Given the description of an element on the screen output the (x, y) to click on. 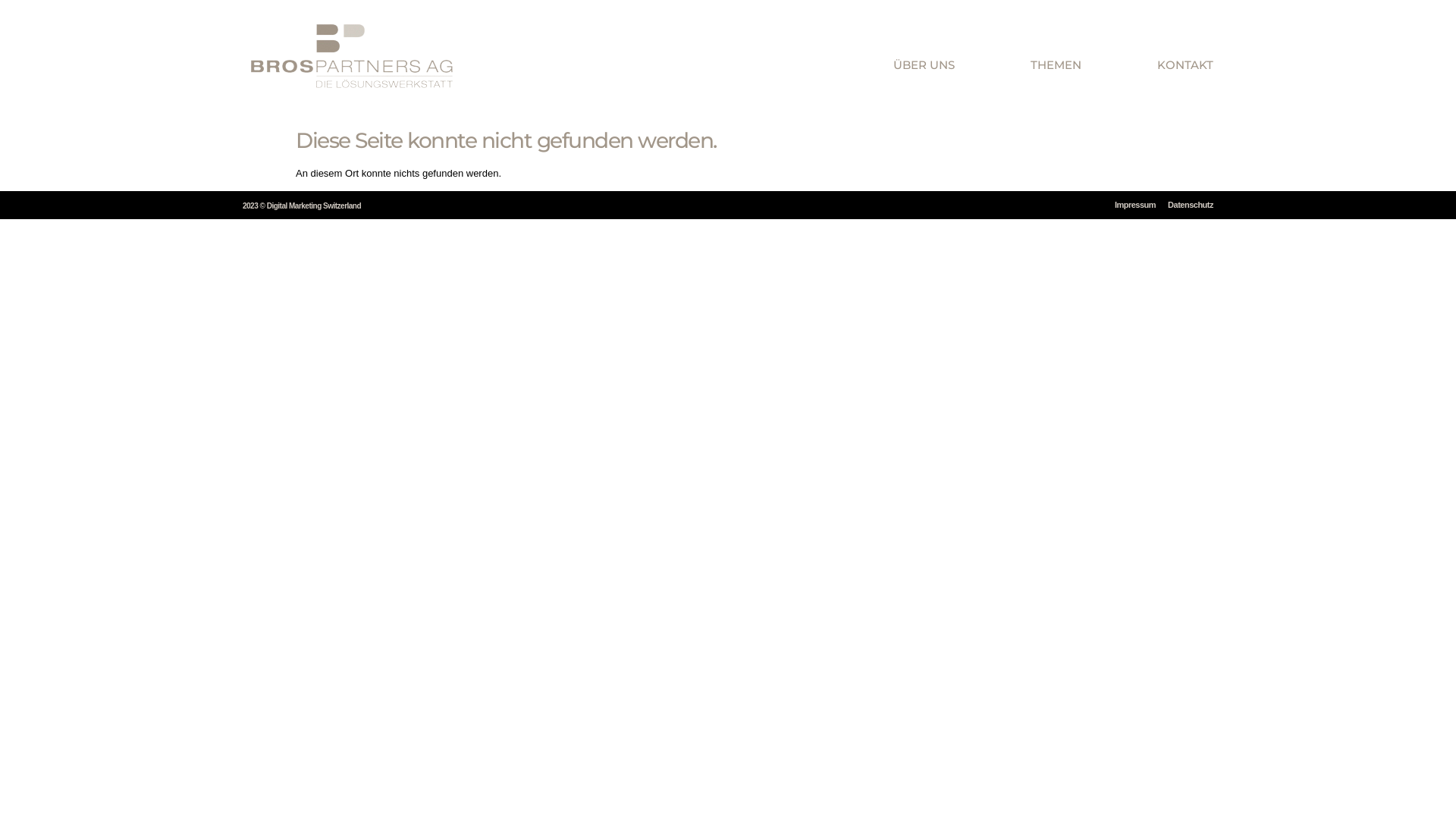
KONTAKT Element type: text (1185, 64)
THEMEN Element type: text (1055, 64)
Datenschutz Element type: text (1190, 204)
Impressum Element type: text (1134, 204)
